Given the description of an element on the screen output the (x, y) to click on. 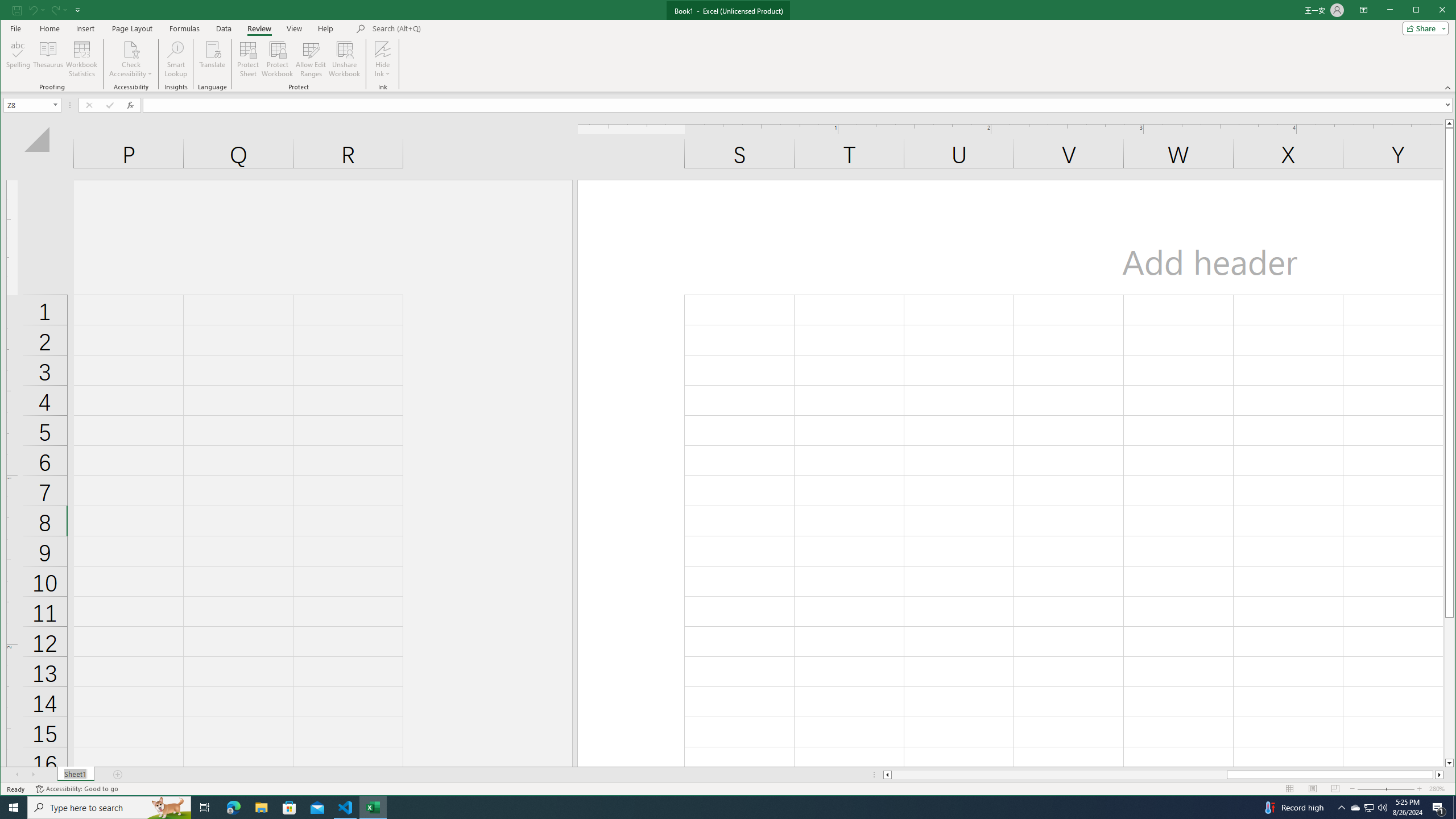
Spelling... (18, 59)
Type here to search (108, 807)
Visual Studio Code - 1 running window (345, 807)
Translate (212, 59)
Maximize (1368, 807)
Smart Lookup (1432, 11)
